Given the description of an element on the screen output the (x, y) to click on. 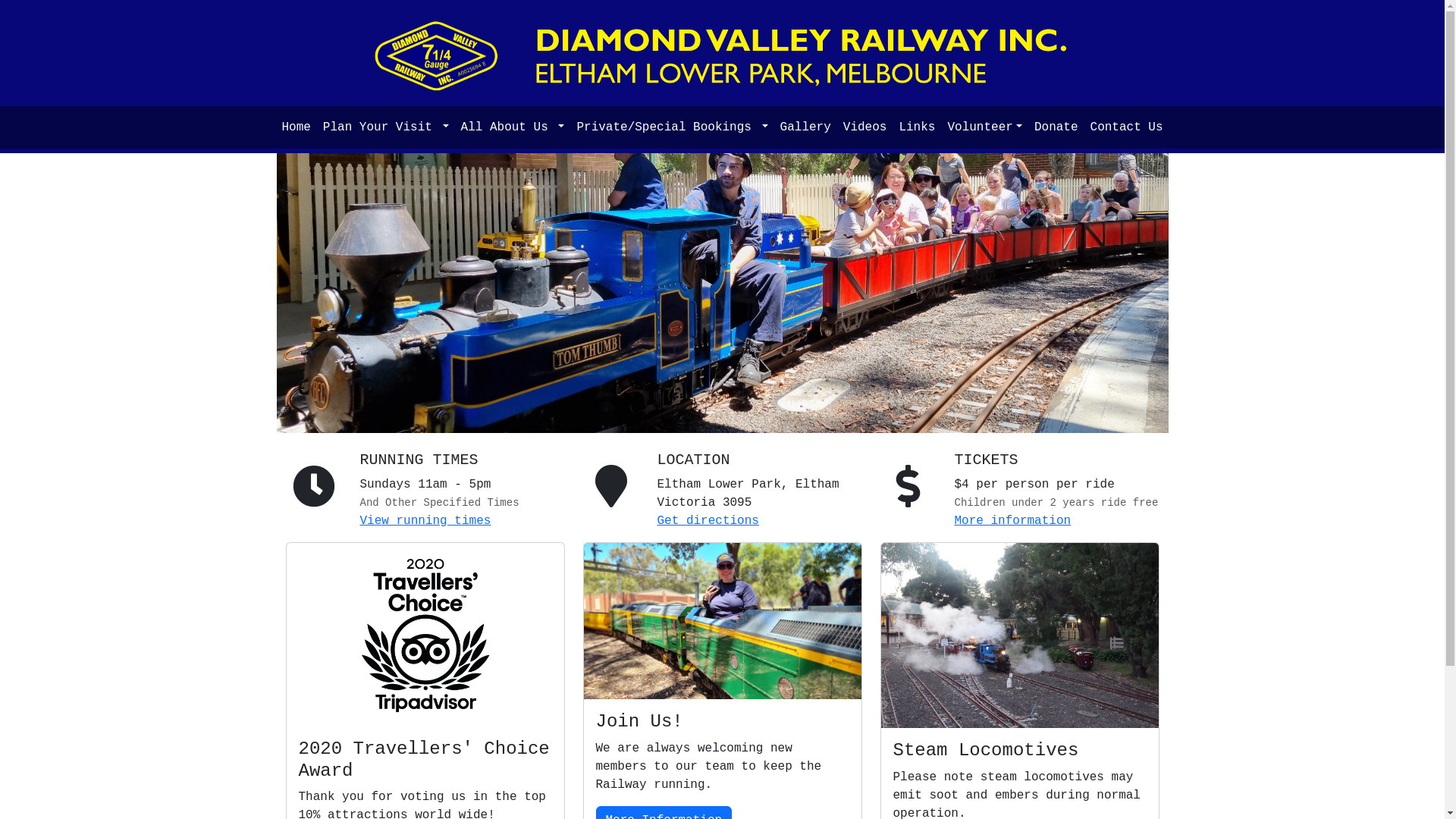
Home Element type: text (295, 127)
Volunteer Element type: text (984, 127)
Gallery Element type: text (805, 127)
Donate Element type: text (1056, 127)
More information Element type: text (1011, 520)
All About Us Element type: text (513, 127)
Get directions Element type: text (707, 520)
Plan Your Visit Element type: text (385, 127)
Links Element type: text (916, 127)
Contact Us Element type: text (1126, 127)
View running times Element type: text (424, 520)
Videos Element type: text (865, 127)
Private/Special Bookings Element type: text (671, 127)
